Given the description of an element on the screen output the (x, y) to click on. 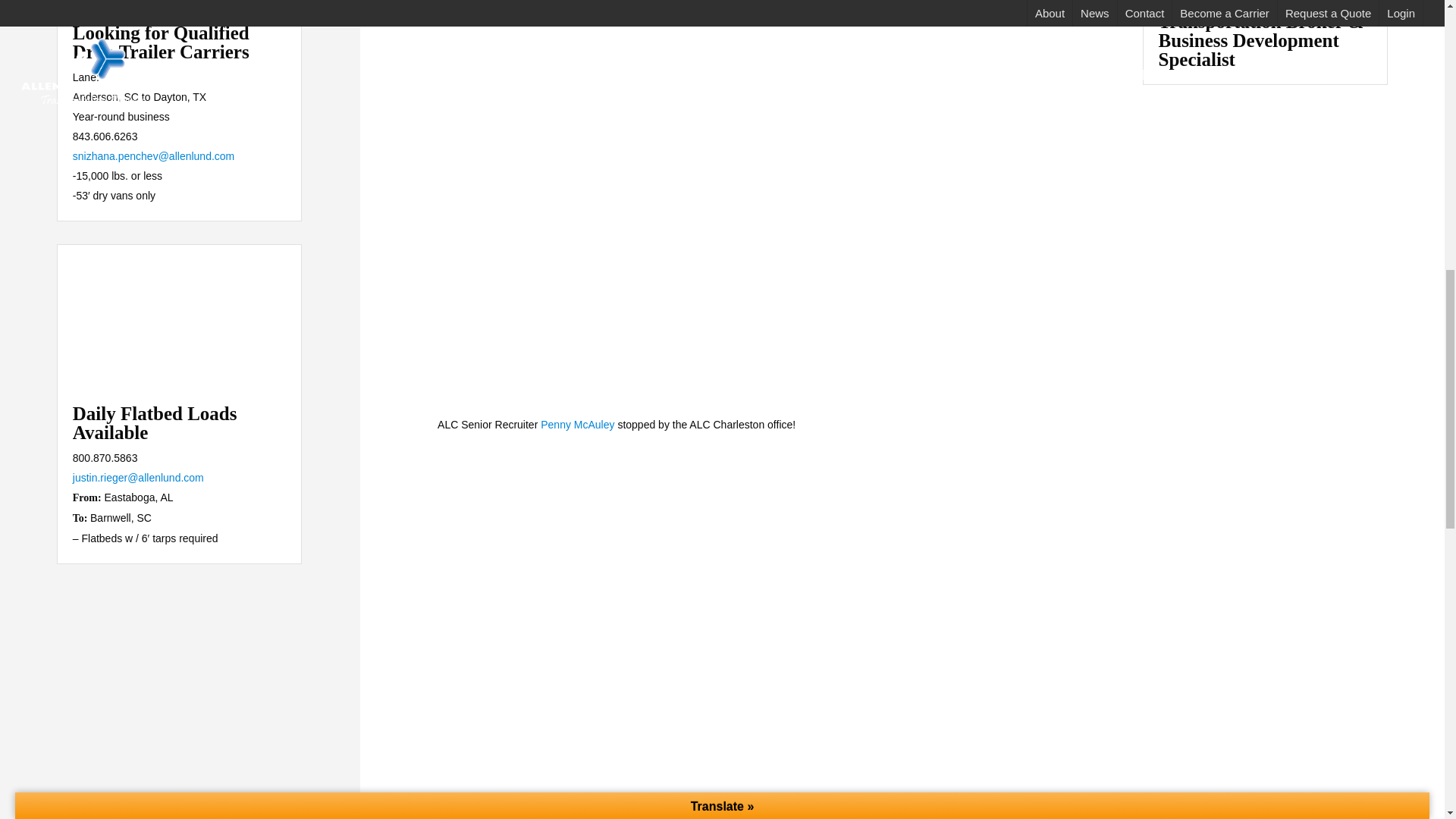
Penny McAuley (577, 424)
